Given the description of an element on the screen output the (x, y) to click on. 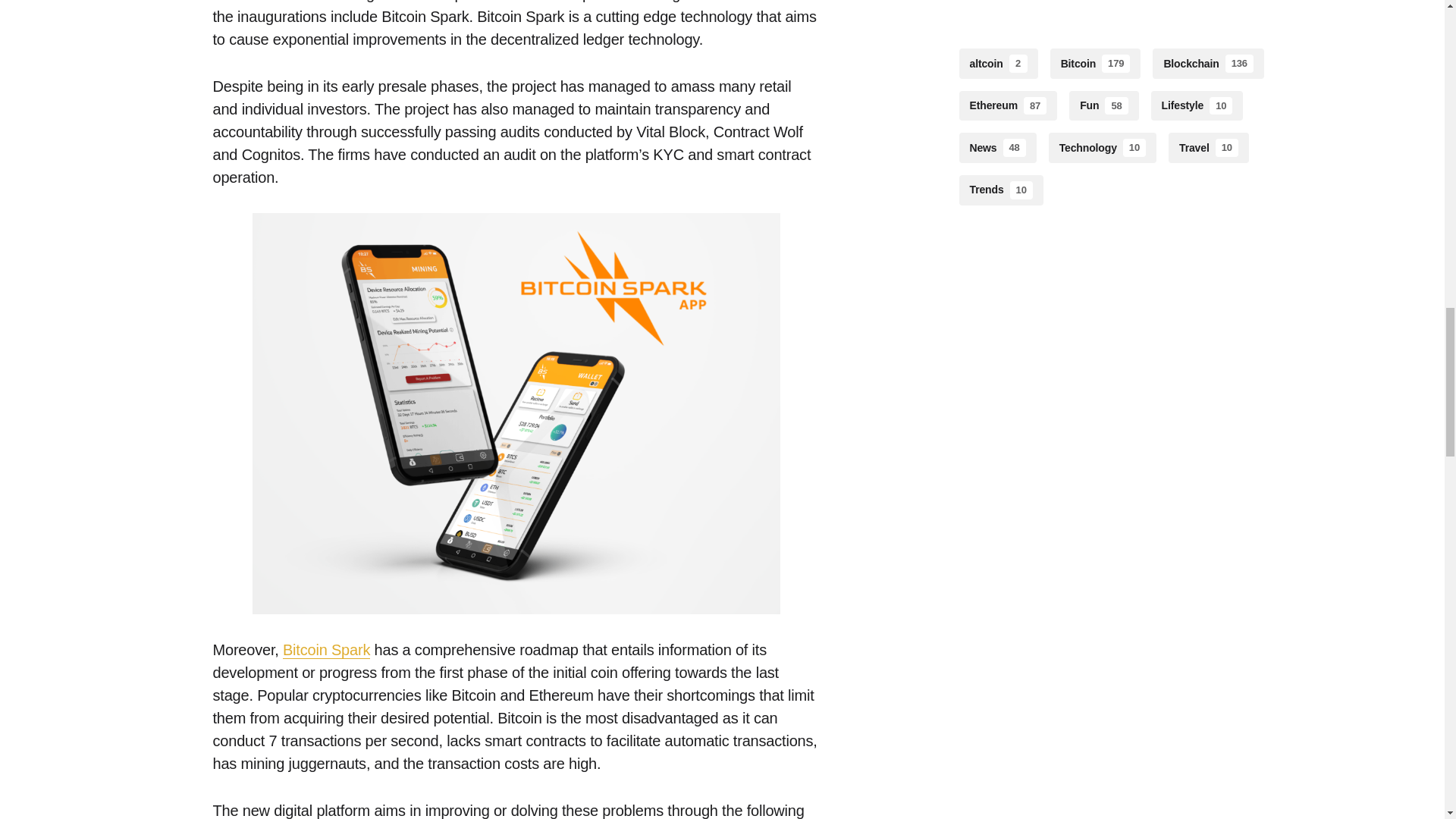
Bitcoin Spark (325, 650)
